Given the description of an element on the screen output the (x, y) to click on. 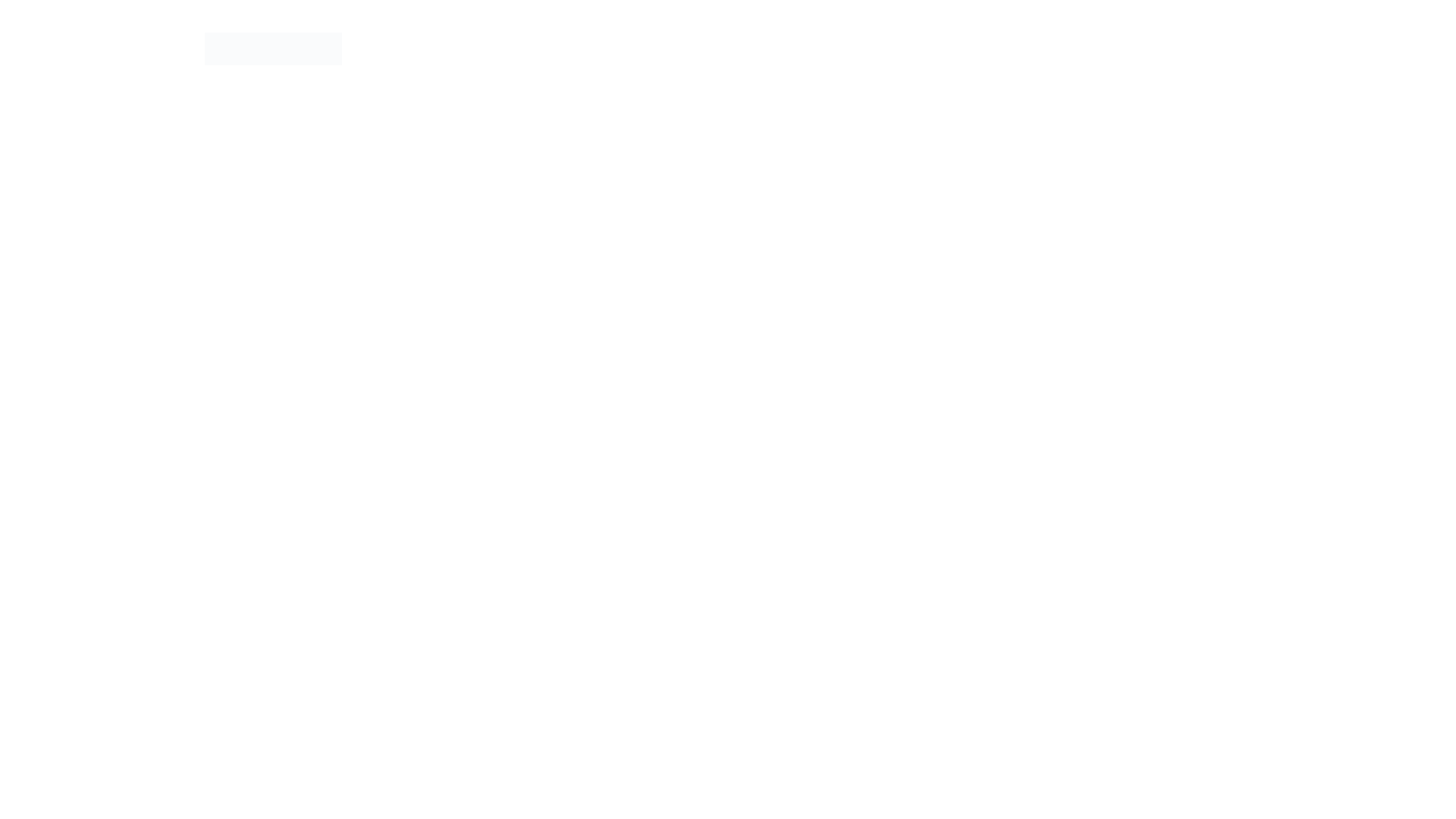
3D printers Element type: text (1043, 37)
Software Element type: text (1127, 37)
Materials Element type: text (1207, 37)
